Given the description of an element on the screen output the (x, y) to click on. 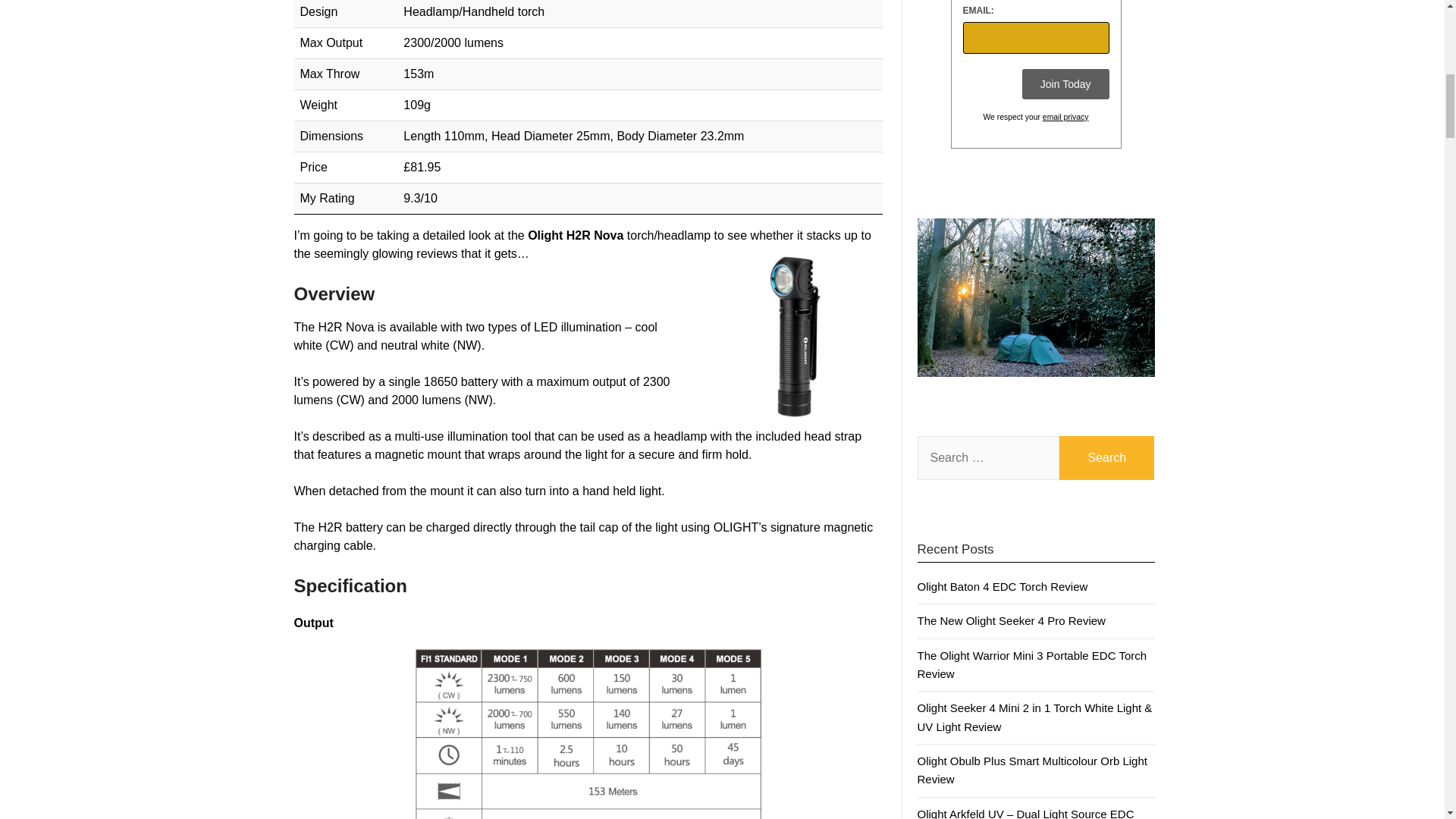
Olight H2R Review - Main Body (791, 334)
Join Today (1065, 83)
Search (1106, 457)
Search (1106, 457)
Olight H2R Review - Output (587, 730)
Privacy Policy (1065, 117)
